Given the description of an element on the screen output the (x, y) to click on. 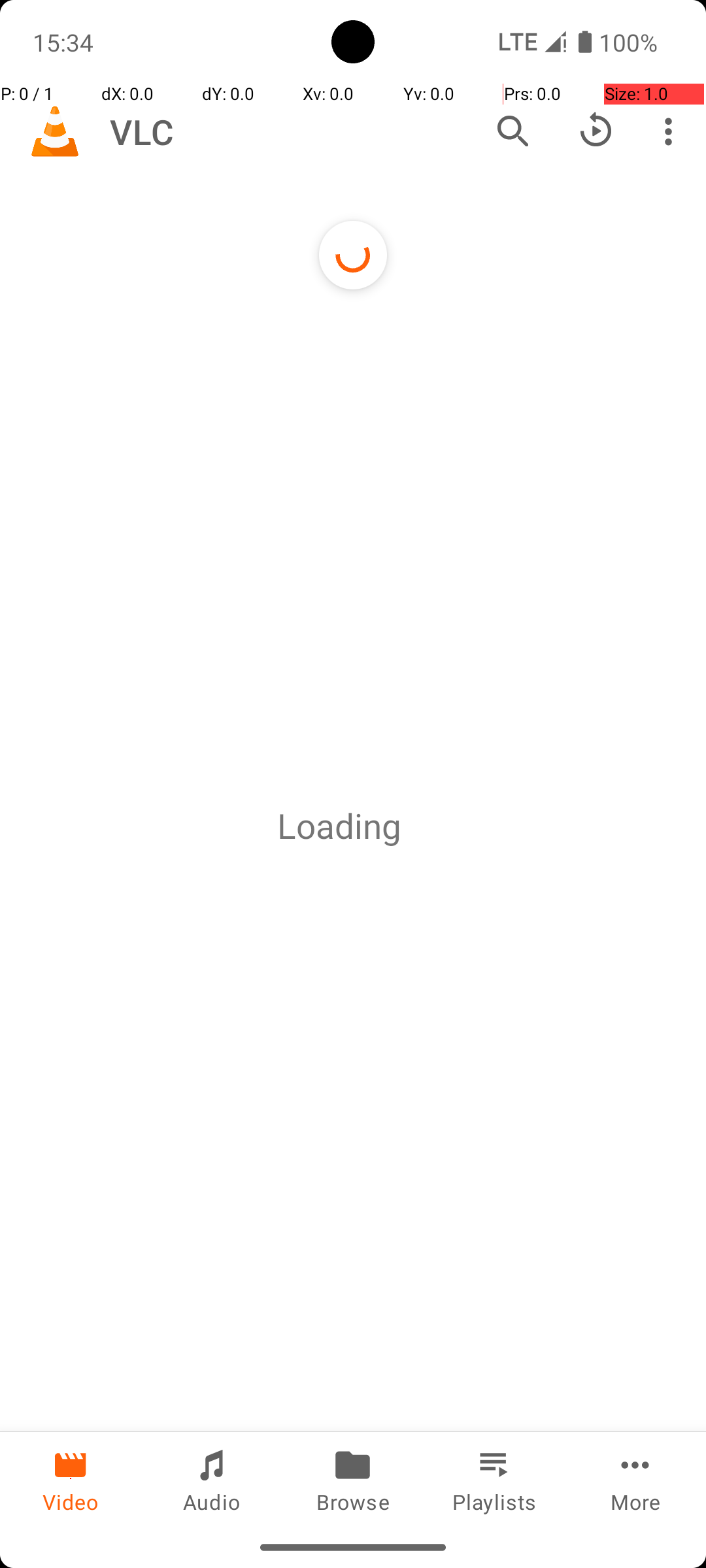
Resume playback Element type: android.widget.TextView (595, 131)
